Given the description of an element on the screen output the (x, y) to click on. 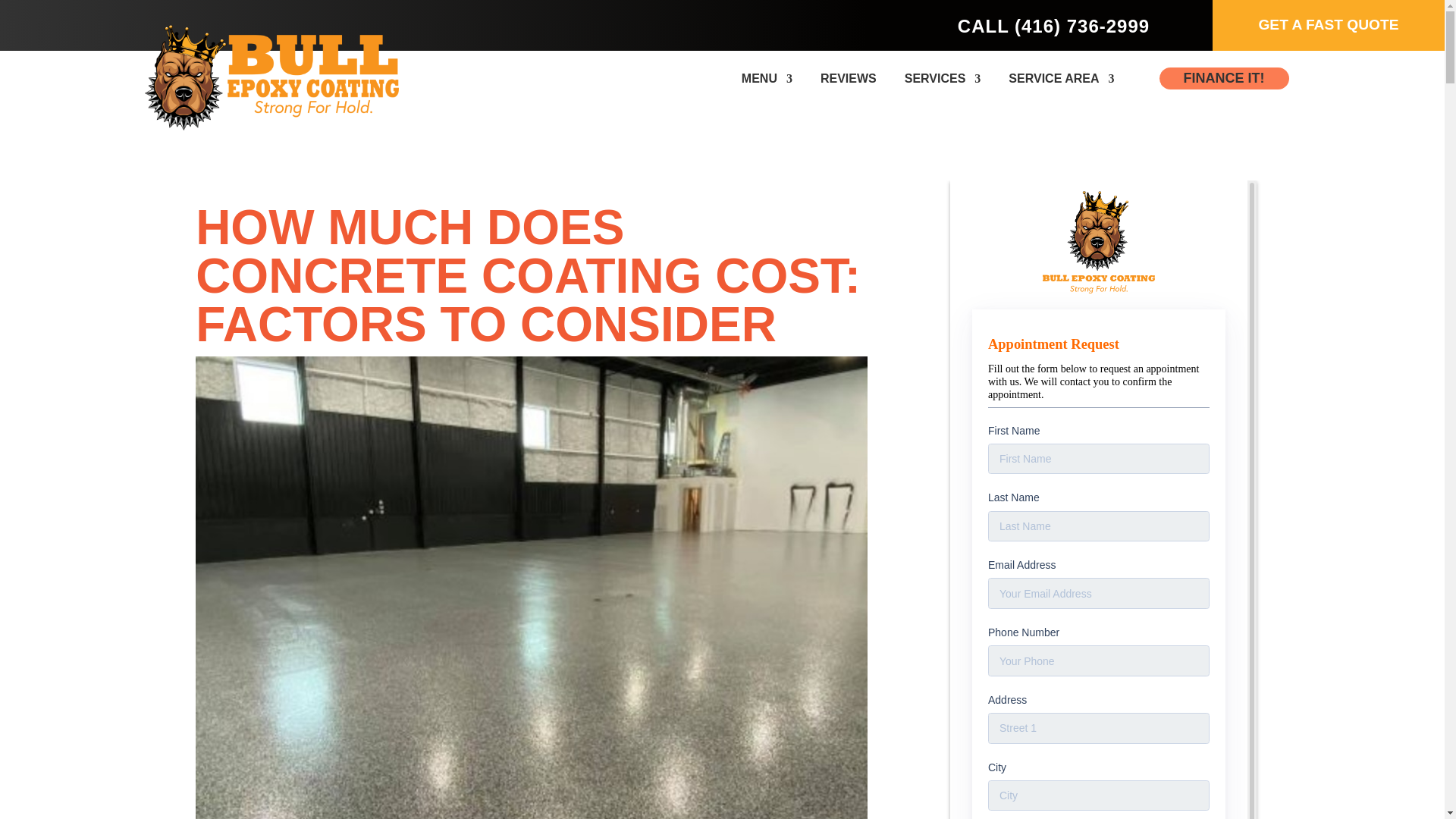
MENU (766, 78)
